Given the description of an element on the screen output the (x, y) to click on. 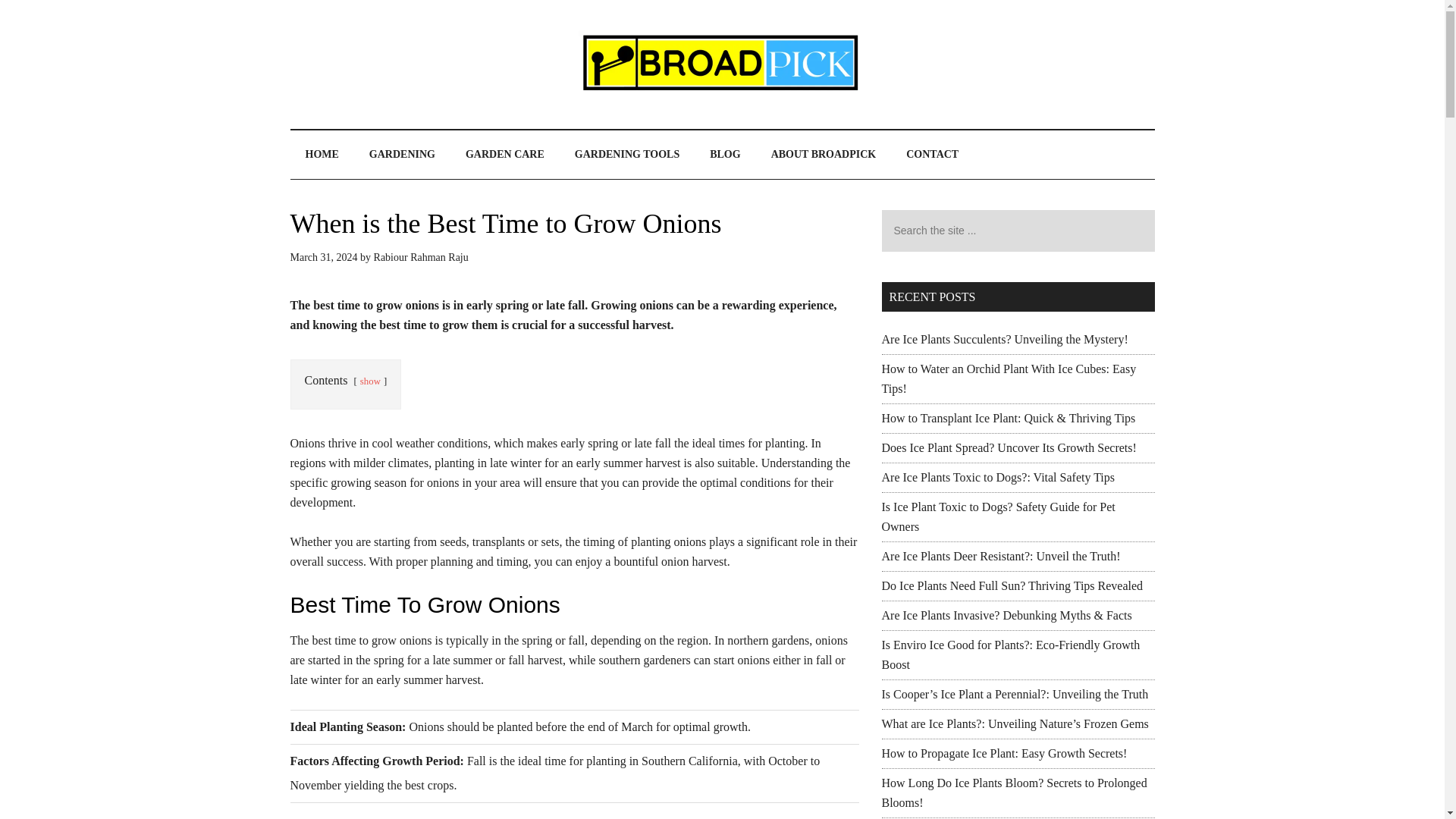
BLOG (724, 154)
BroadPick (721, 64)
ABOUT BROADPICK (823, 154)
show (369, 380)
CONTACT (932, 154)
GARDENING TOOLS (626, 154)
GARDENING (401, 154)
HOME (321, 154)
Rabiour Rahman Raju (421, 256)
